Given the description of an element on the screen output the (x, y) to click on. 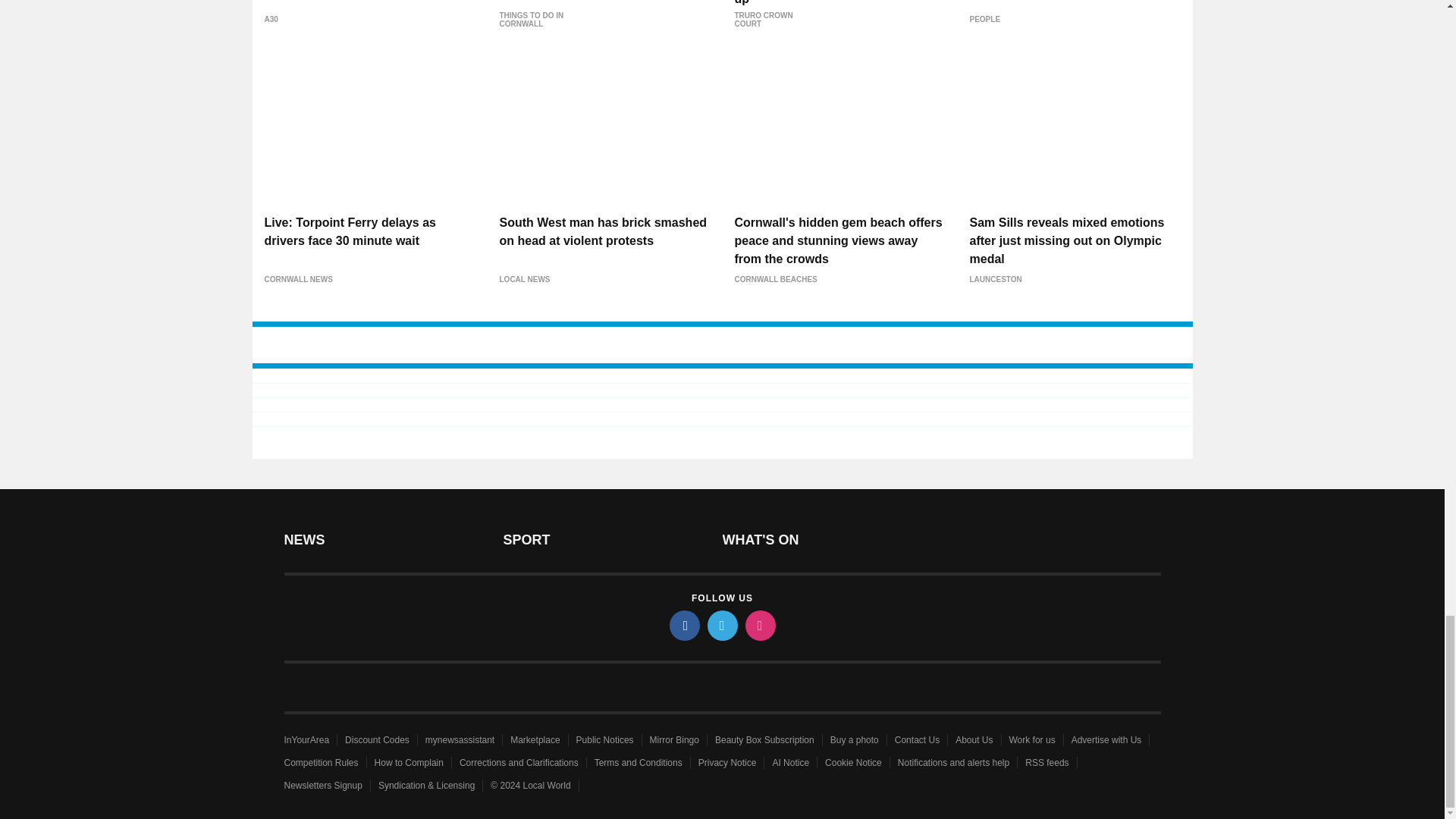
twitter (721, 625)
facebook (683, 625)
instagram (759, 625)
